Given the description of an element on the screen output the (x, y) to click on. 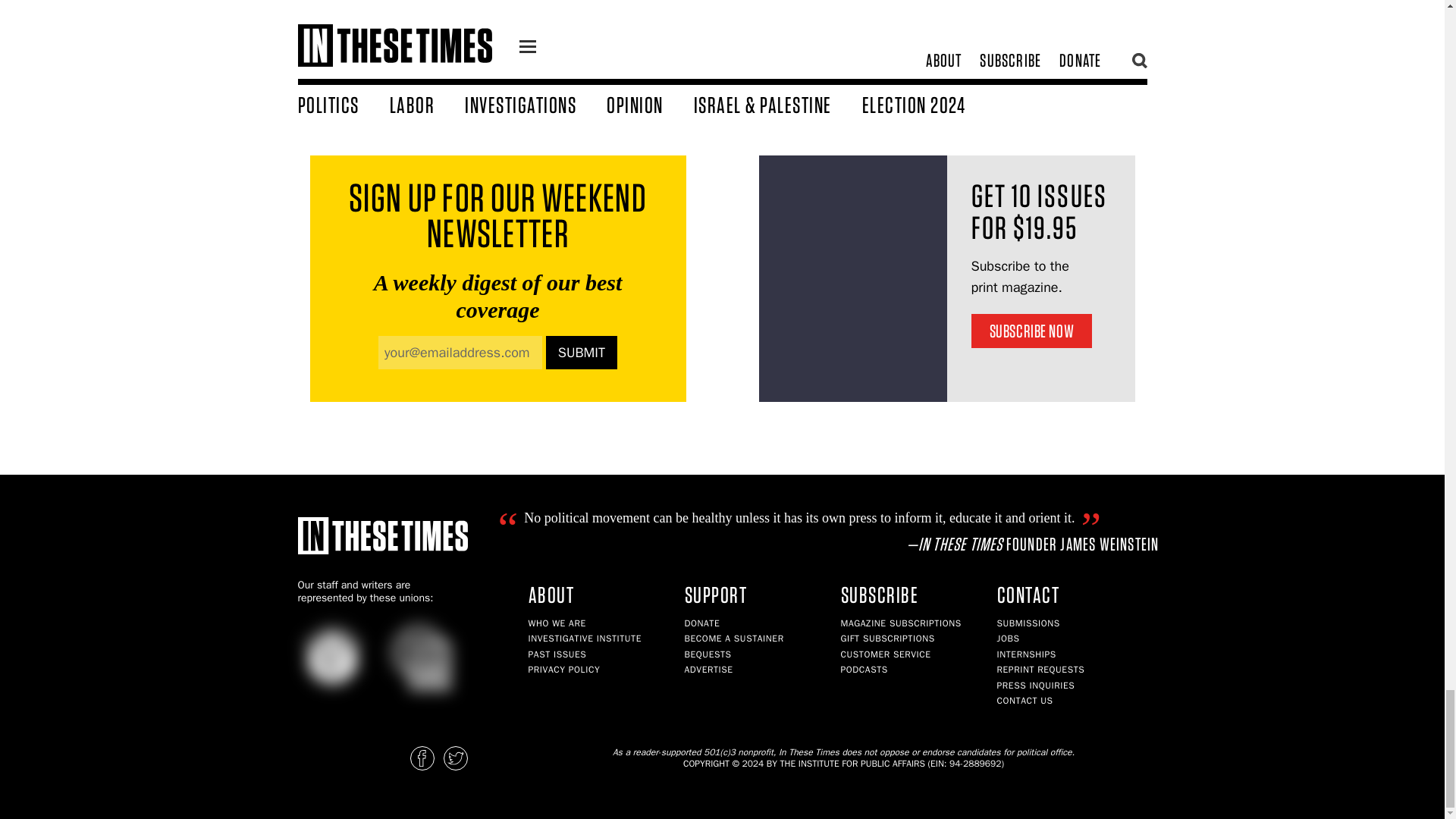
Submit (581, 352)
